Given the description of an element on the screen output the (x, y) to click on. 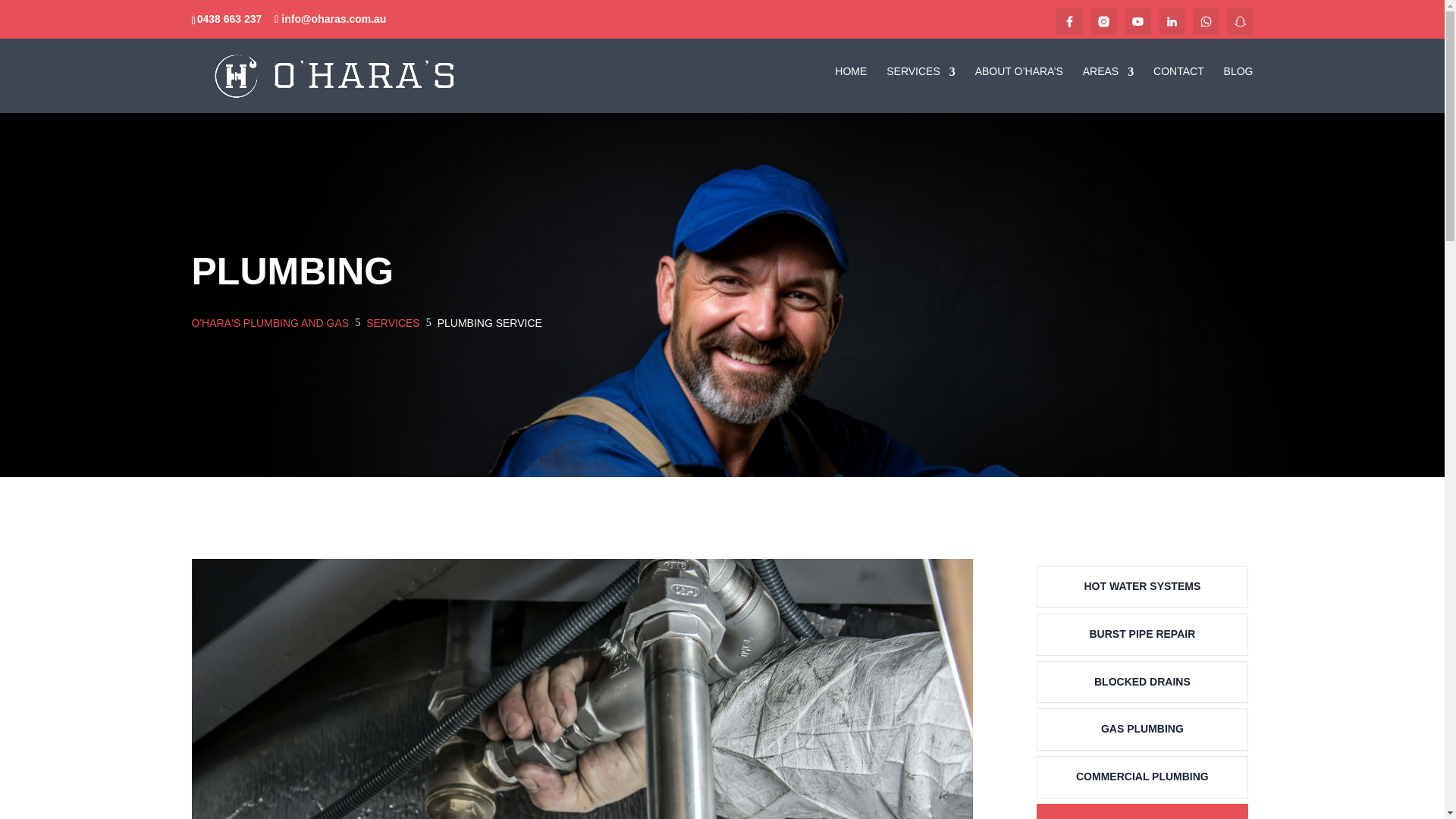
Perth Areas Plumbing (721, 573)
AREAS (1108, 88)
Call us now (348, 616)
East Victoria Park Plumbing (721, 616)
SERVICES (920, 88)
CONTACT (1178, 88)
Plumber Belmont (721, 658)
